Given the description of an element on the screen output the (x, y) to click on. 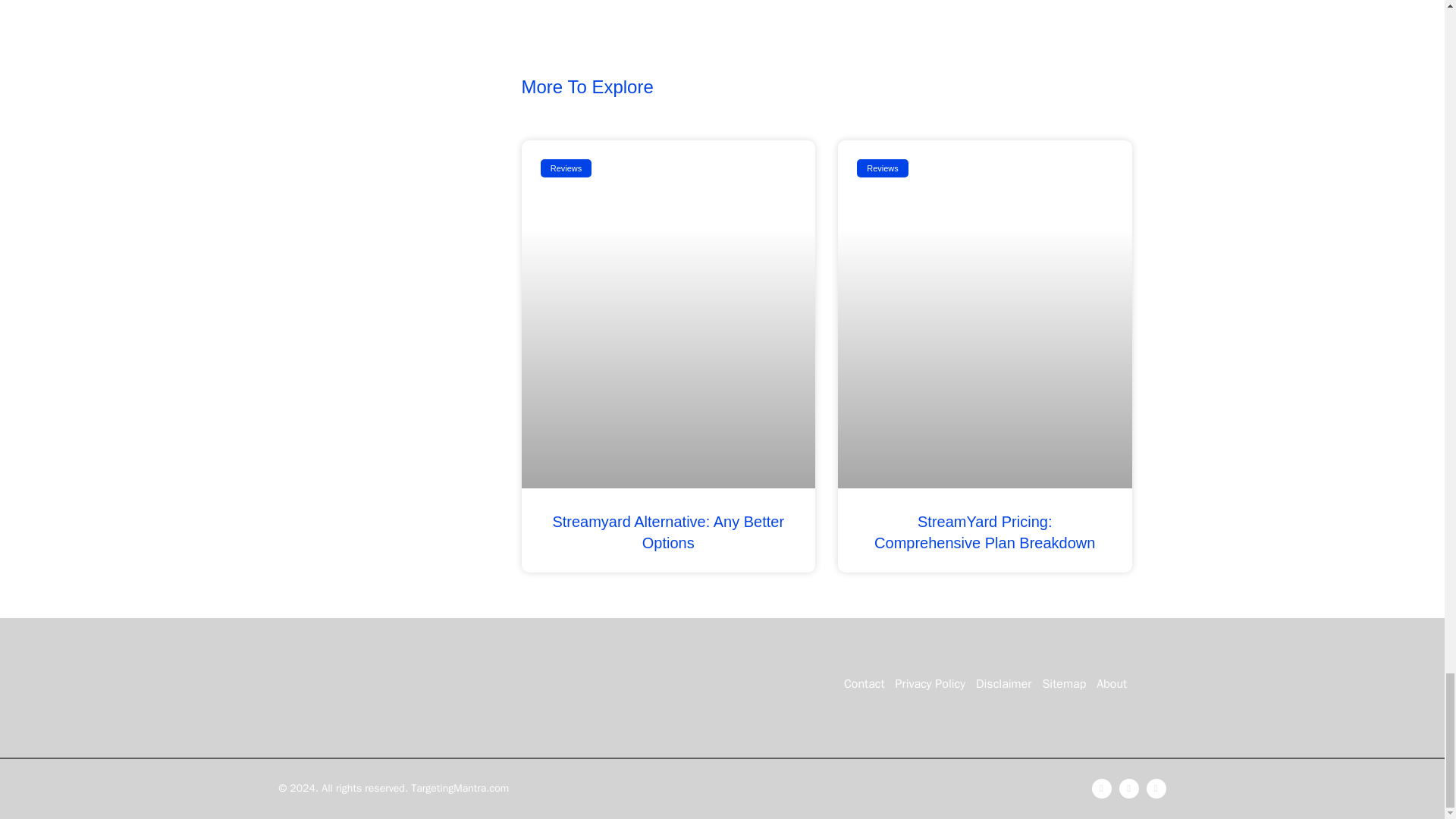
Disclaimer (1003, 683)
Contact (863, 683)
Streamyard Alternative: Any Better Options (667, 532)
About (1111, 683)
Sitemap (1063, 683)
Privacy Policy (930, 683)
StreamYard Pricing: Comprehensive Plan Breakdown (984, 532)
